Given the description of an element on the screen output the (x, y) to click on. 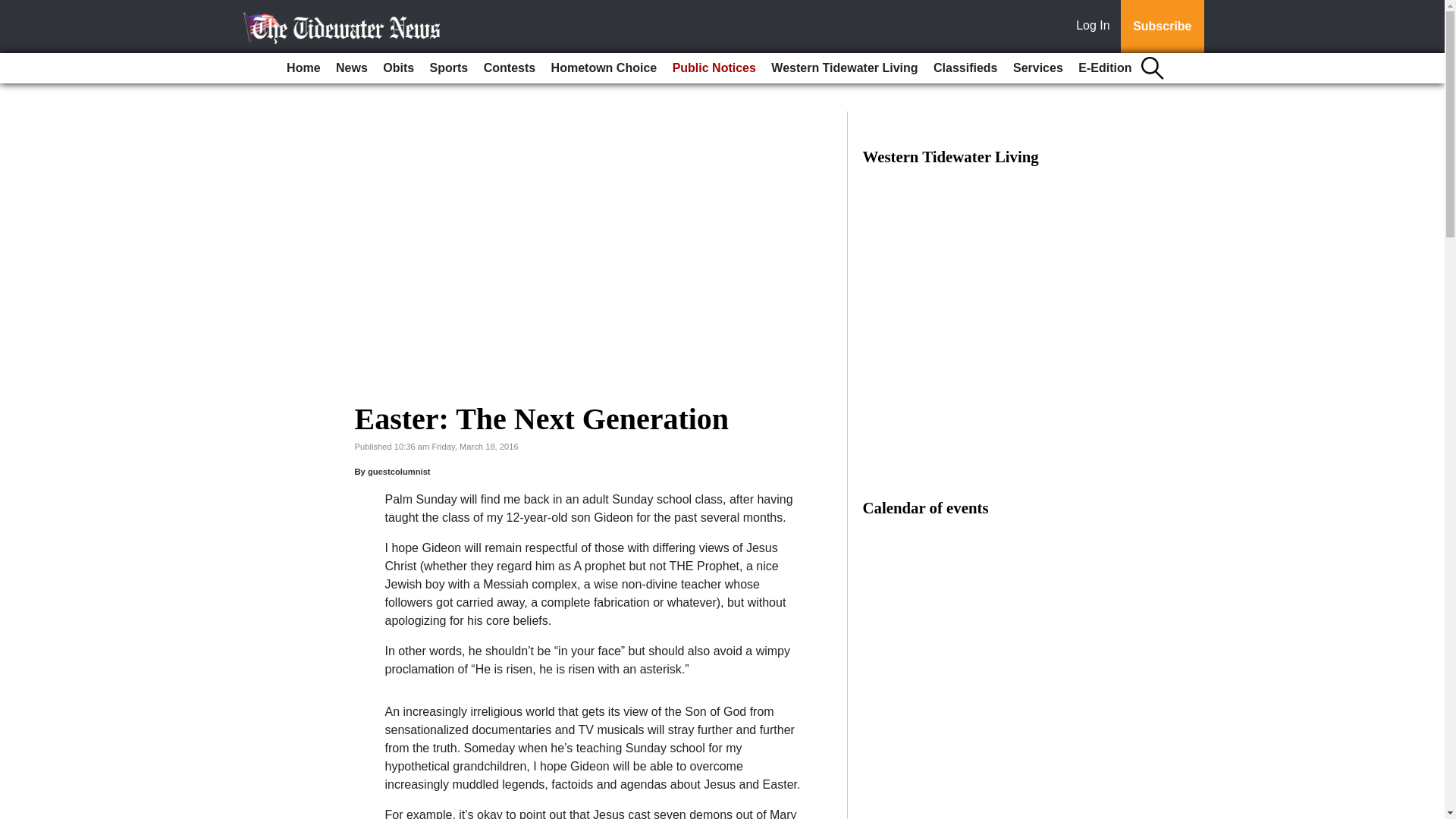
Services (1037, 68)
Subscribe (1162, 26)
guestcolumnist (399, 470)
Obits (398, 68)
Contests (509, 68)
Public Notices (713, 68)
Sports (448, 68)
Classifieds (965, 68)
Log In (1095, 26)
Hometown Choice (603, 68)
Go (13, 9)
E-Edition (1104, 68)
Western Tidewater Living (844, 68)
Home (303, 68)
News (352, 68)
